Given the description of an element on the screen output the (x, y) to click on. 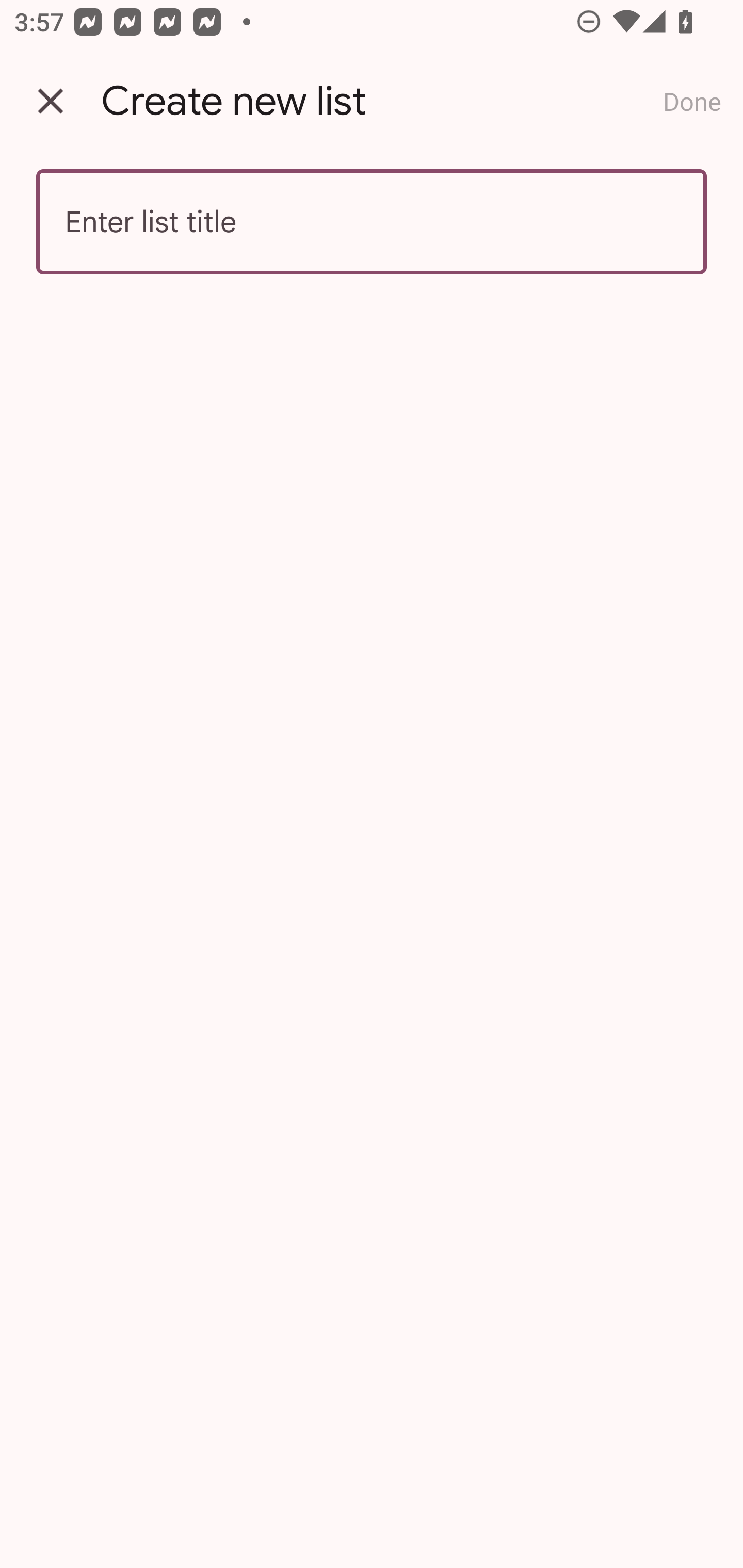
Back (50, 101)
Done (692, 101)
Enter list title (371, 221)
